Given the description of an element on the screen output the (x, y) to click on. 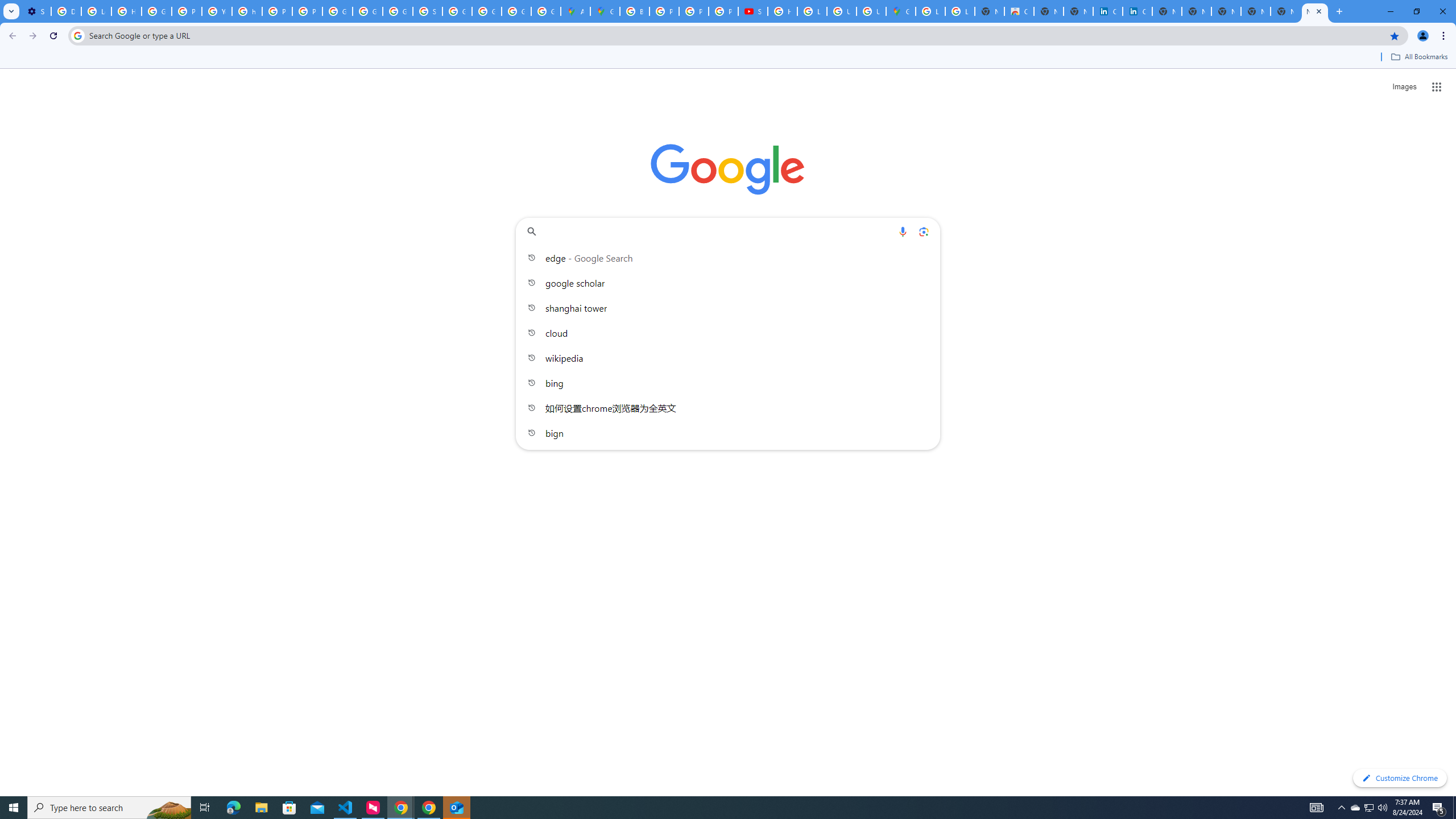
Settings - Customize profile (36, 11)
All Bookmarks (1418, 56)
Search by image (922, 230)
Bookmarks (728, 58)
Customize Chrome (1399, 778)
Subscriptions - YouTube (753, 11)
